Given the description of an element on the screen output the (x, y) to click on. 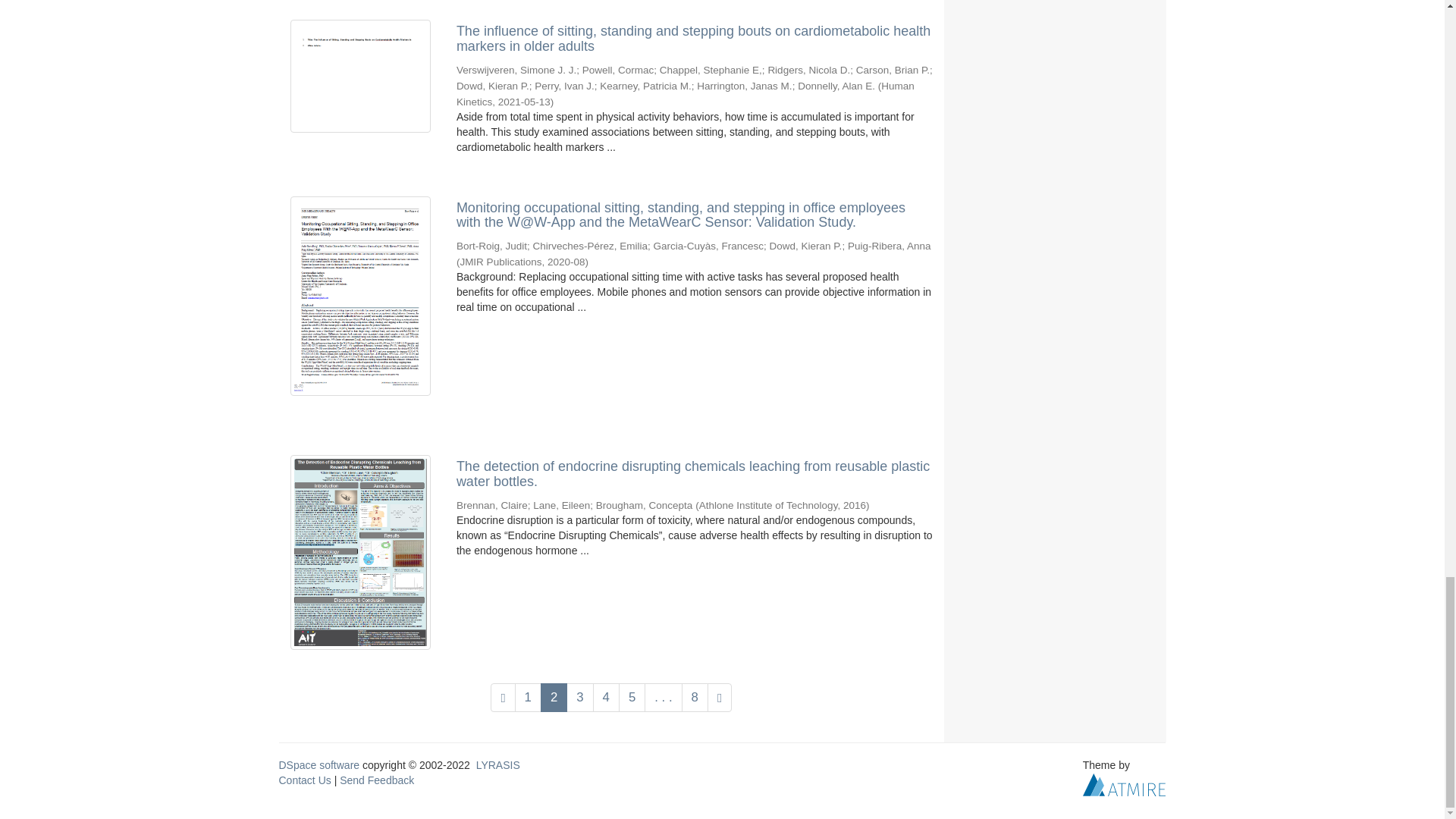
Atmire NV (1124, 784)
